Given the description of an element on the screen output the (x, y) to click on. 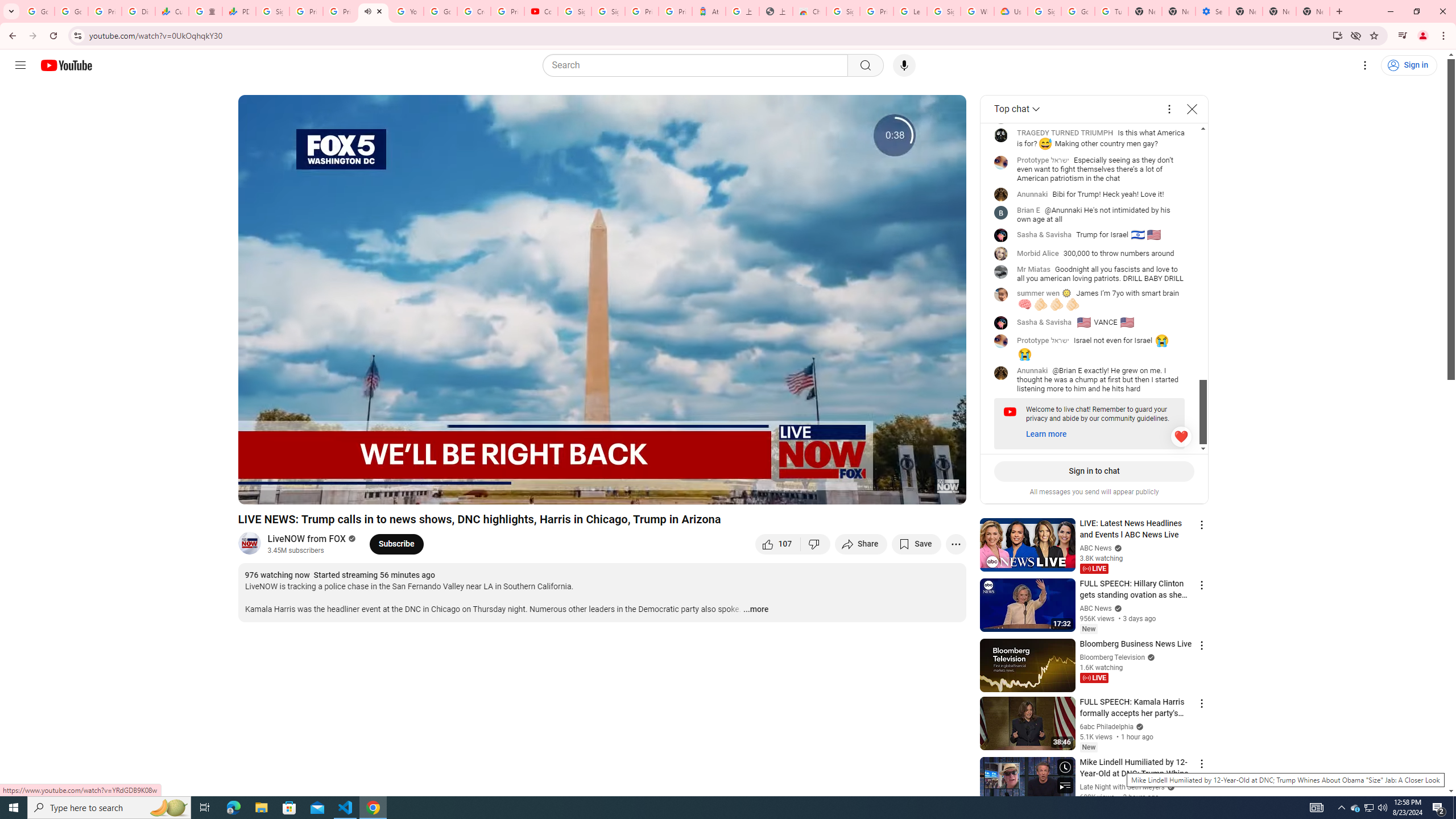
Sign in to chat (1092, 471)
Create your Google Account (474, 11)
LIVE (1093, 678)
...more (755, 609)
Next (SHIFT+n) (284, 490)
Autoplay is on (808, 490)
Share (861, 543)
